Given the description of an element on the screen output the (x, y) to click on. 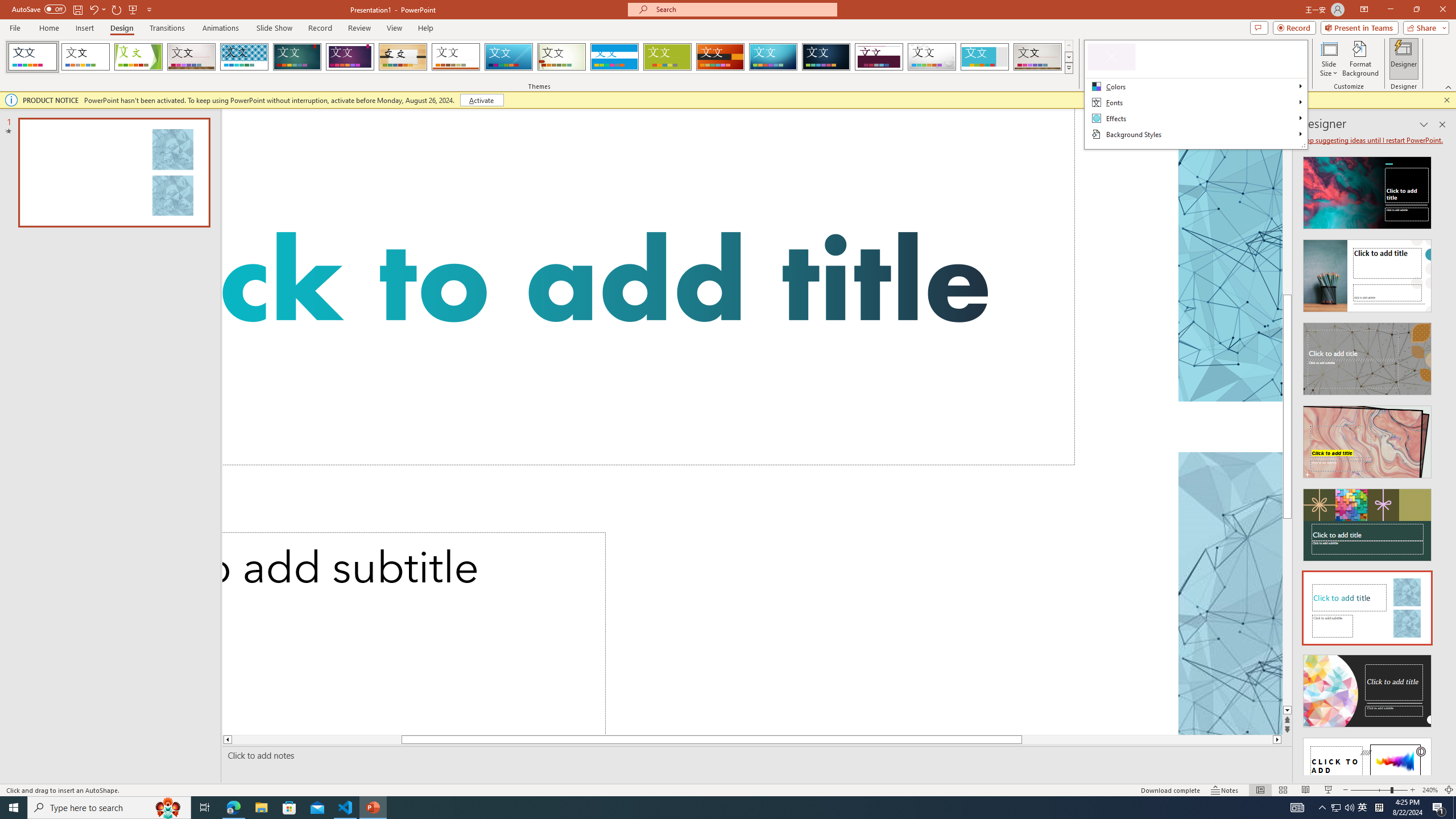
Ion (296, 56)
Ion Boardroom (350, 56)
Droplet (931, 56)
Class: NetUIScrollBar (1441, 461)
Zoom 240% (1430, 790)
